Given the description of an element on the screen output the (x, y) to click on. 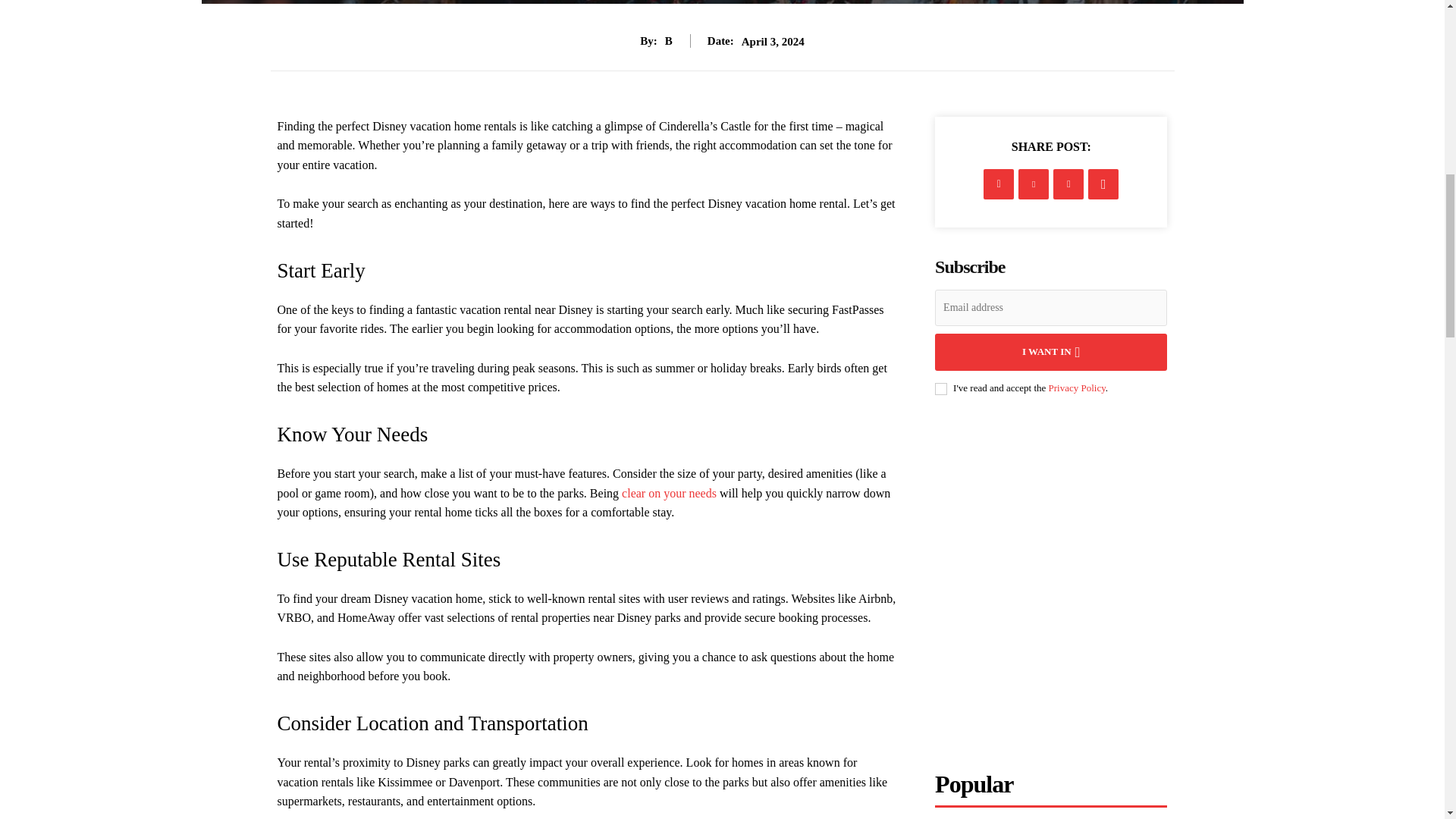
WhatsApp (1102, 183)
Twitter (1032, 183)
Pinterest (1067, 183)
Facebook (998, 183)
